Given the description of an element on the screen output the (x, y) to click on. 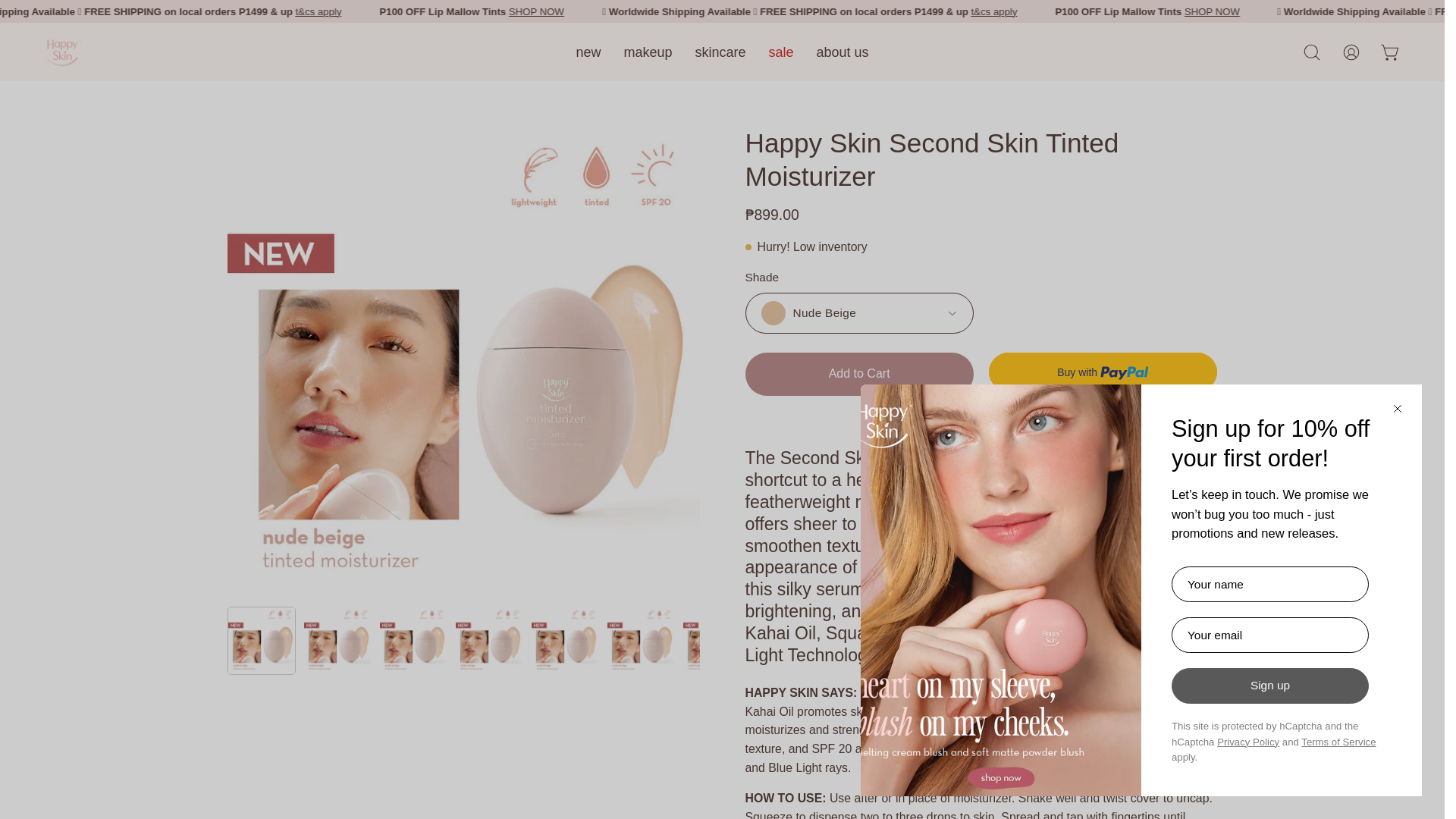
Happy Skin Lip Mallow Tint (1266, 11)
SHOP NOW (1298, 11)
SHOP NOW (624, 11)
Happy Skin Lip Mallow Tint (593, 11)
